Given the description of an element on the screen output the (x, y) to click on. 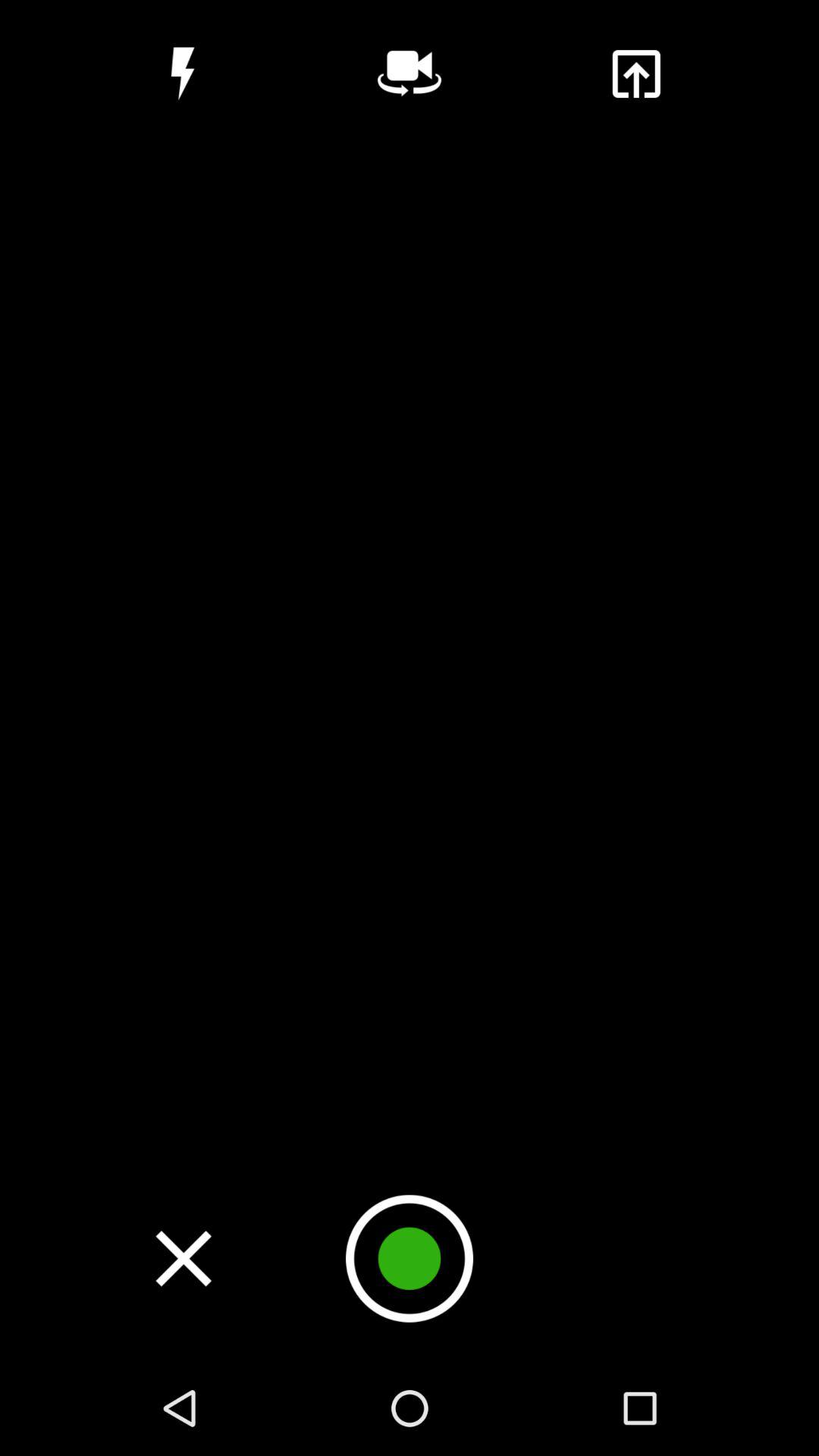
turn flash off/on (182, 73)
